Given the description of an element on the screen output the (x, y) to click on. 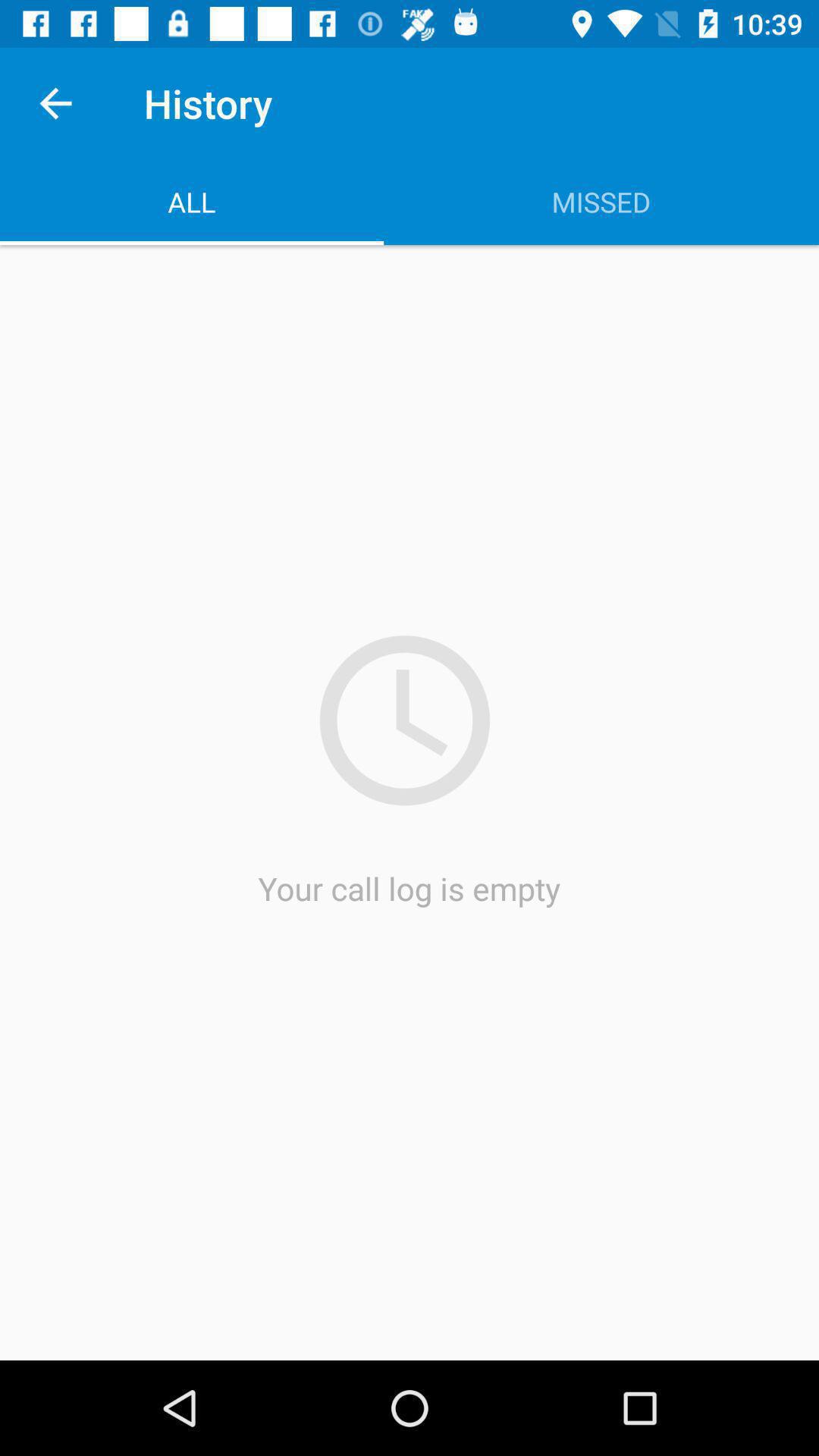
scroll until missed app (601, 202)
